Given the description of an element on the screen output the (x, y) to click on. 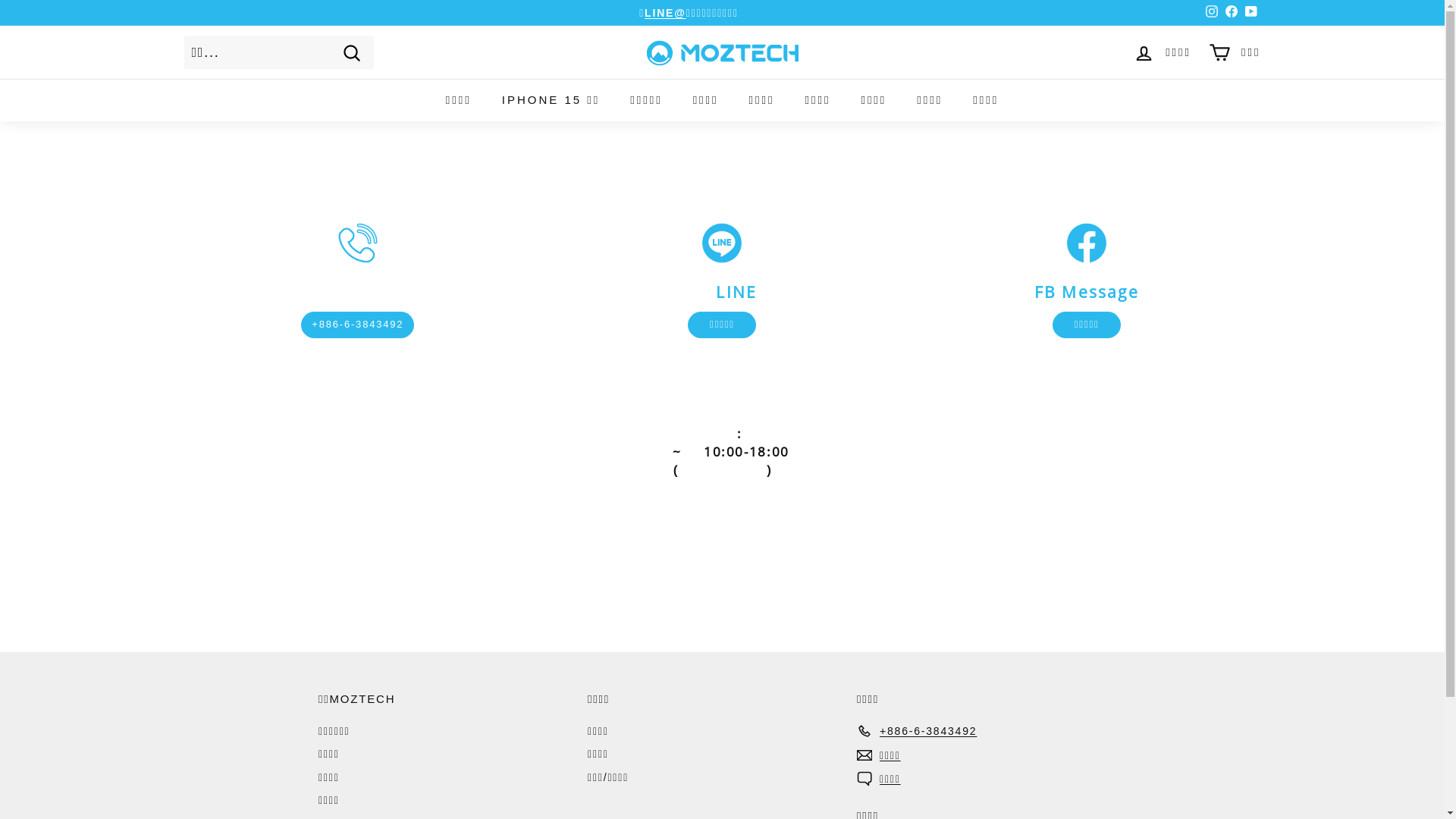
+886-6-3843492 Element type: text (916, 730)
+886-6-3843492 Element type: text (357, 324)
LINE@ Element type: text (665, 12)
Instagram Element type: text (1210, 12)
YouTube Element type: text (1250, 12)
Facebook Element type: text (1230, 12)
